Given the description of an element on the screen output the (x, y) to click on. 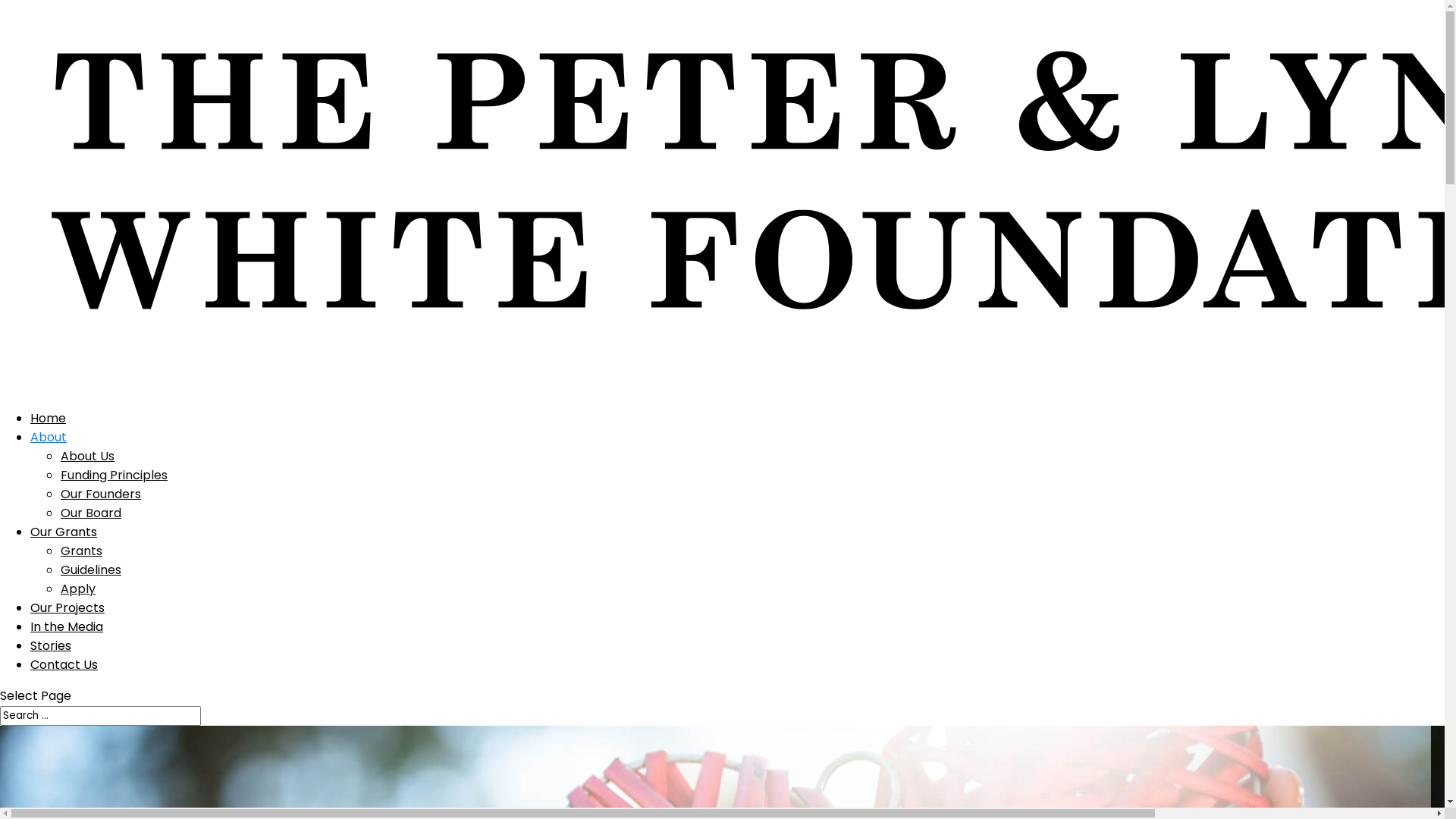
Home Element type: text (47, 433)
Apply Element type: text (77, 588)
Stories Element type: text (50, 660)
About Element type: text (48, 452)
Search for: Element type: hover (100, 715)
Our Board Element type: text (90, 512)
Our Grants Element type: text (63, 547)
Guidelines Element type: text (90, 569)
Our Projects Element type: text (67, 622)
Contact Us Element type: text (63, 679)
Funding Principles Element type: text (113, 474)
Grants Element type: text (81, 550)
Our Founders Element type: text (100, 493)
In the Media Element type: text (66, 641)
About Us Element type: text (87, 455)
